Given the description of an element on the screen output the (x, y) to click on. 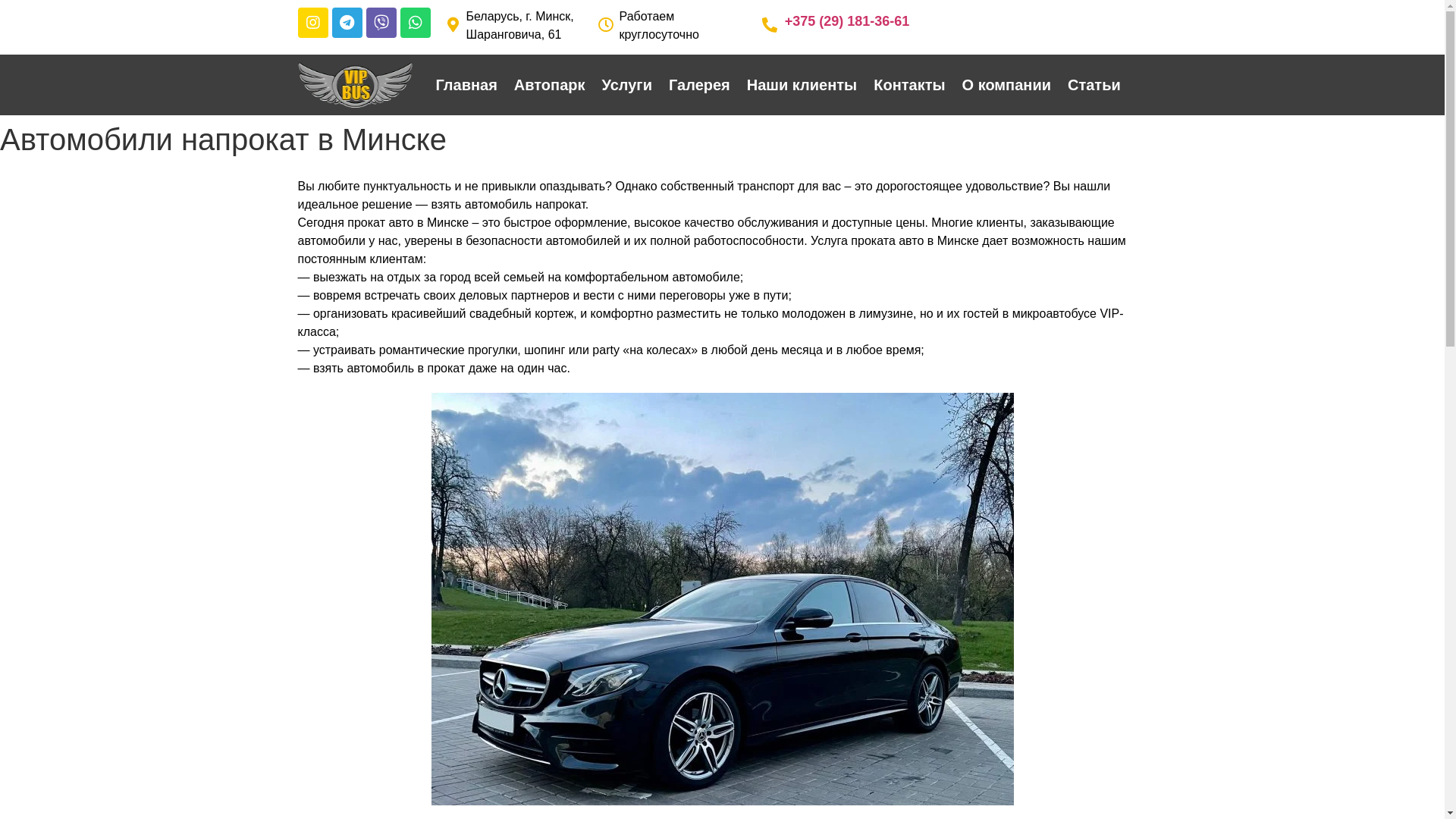
+375 (29) 181-36-61 Element type: text (847, 20)
